Given the description of an element on the screen output the (x, y) to click on. 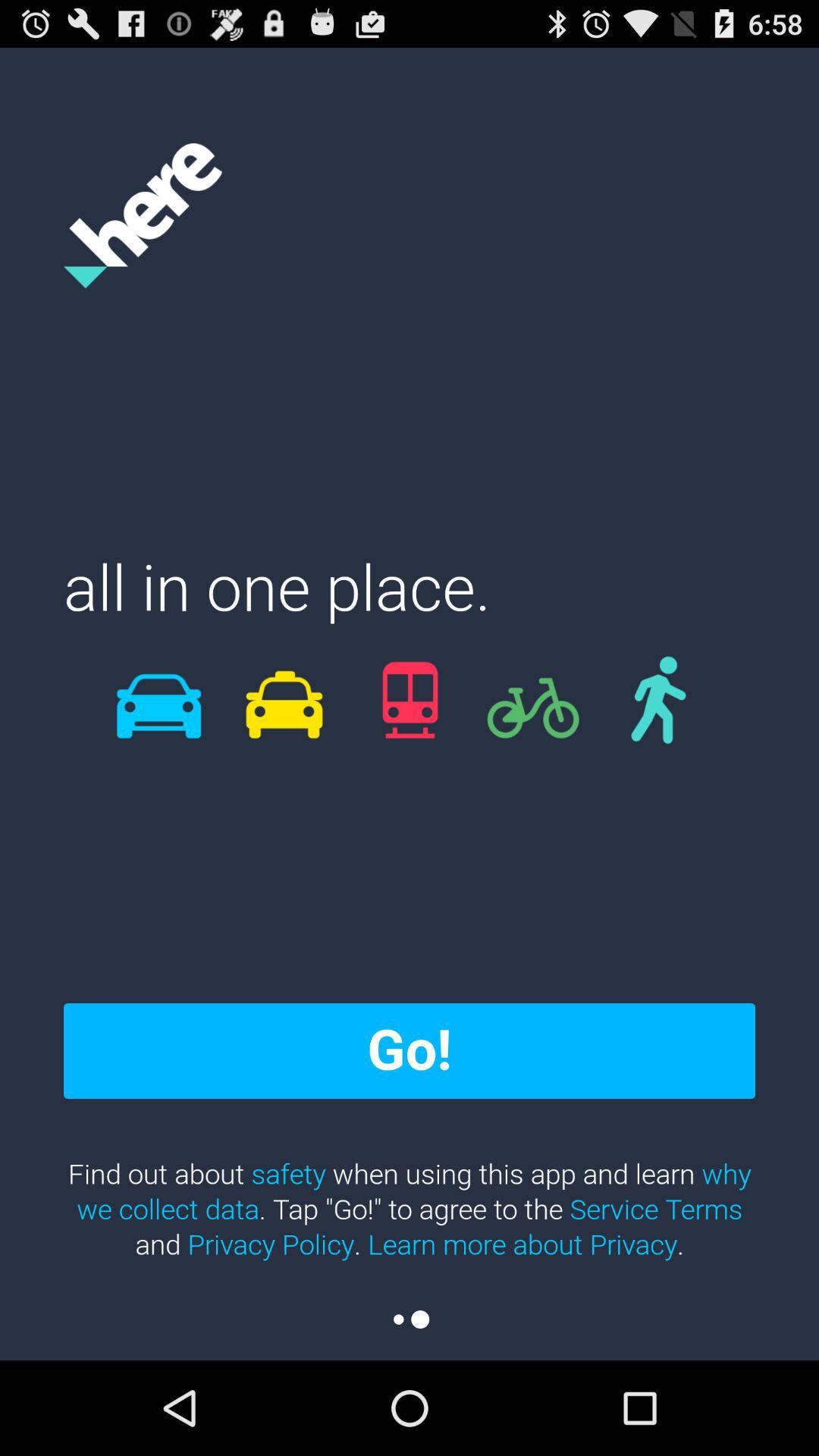
choose the find out about item (409, 1208)
